Given the description of an element on the screen output the (x, y) to click on. 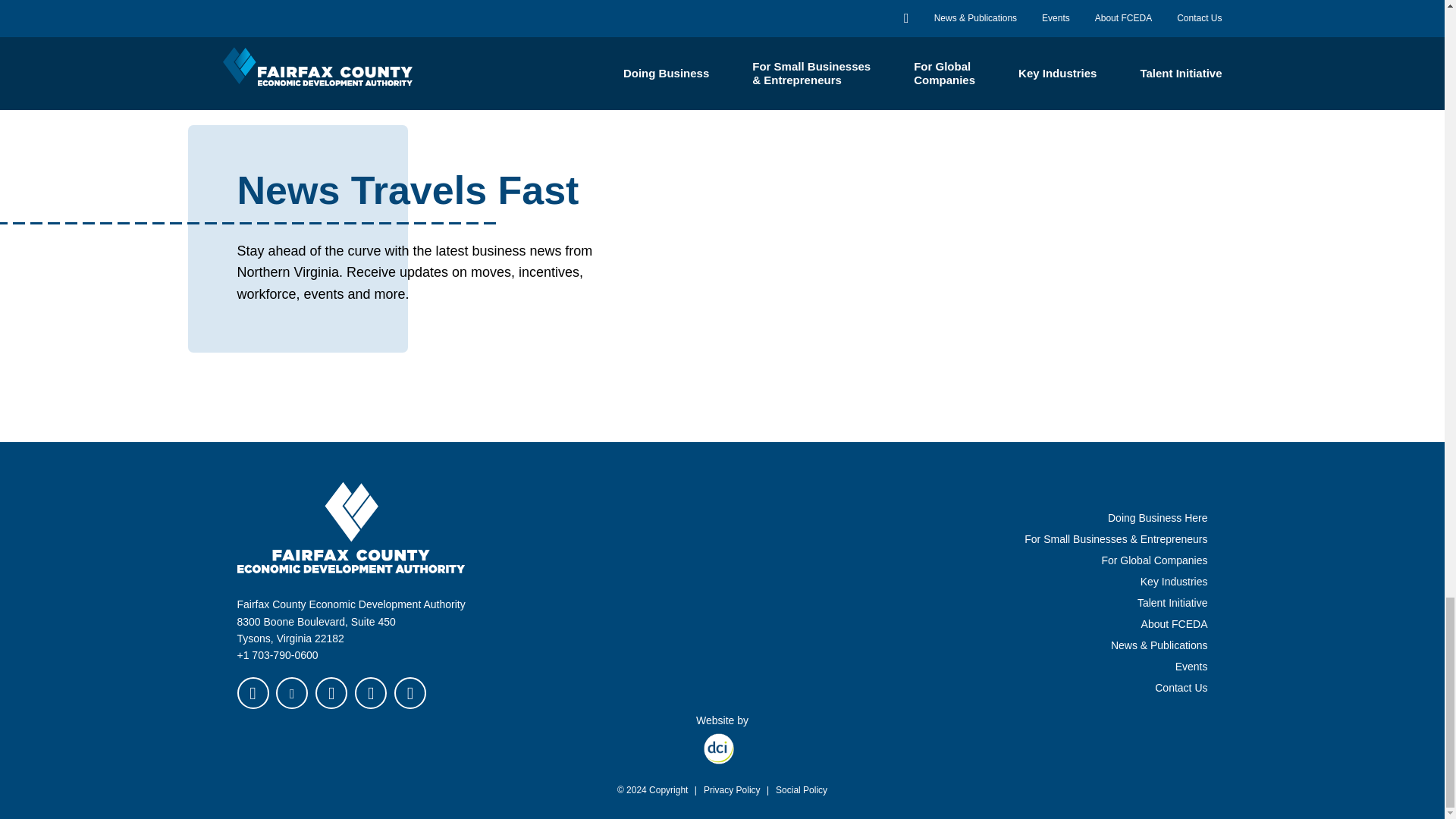
Form 0 (951, 287)
